Given the description of an element on the screen output the (x, y) to click on. 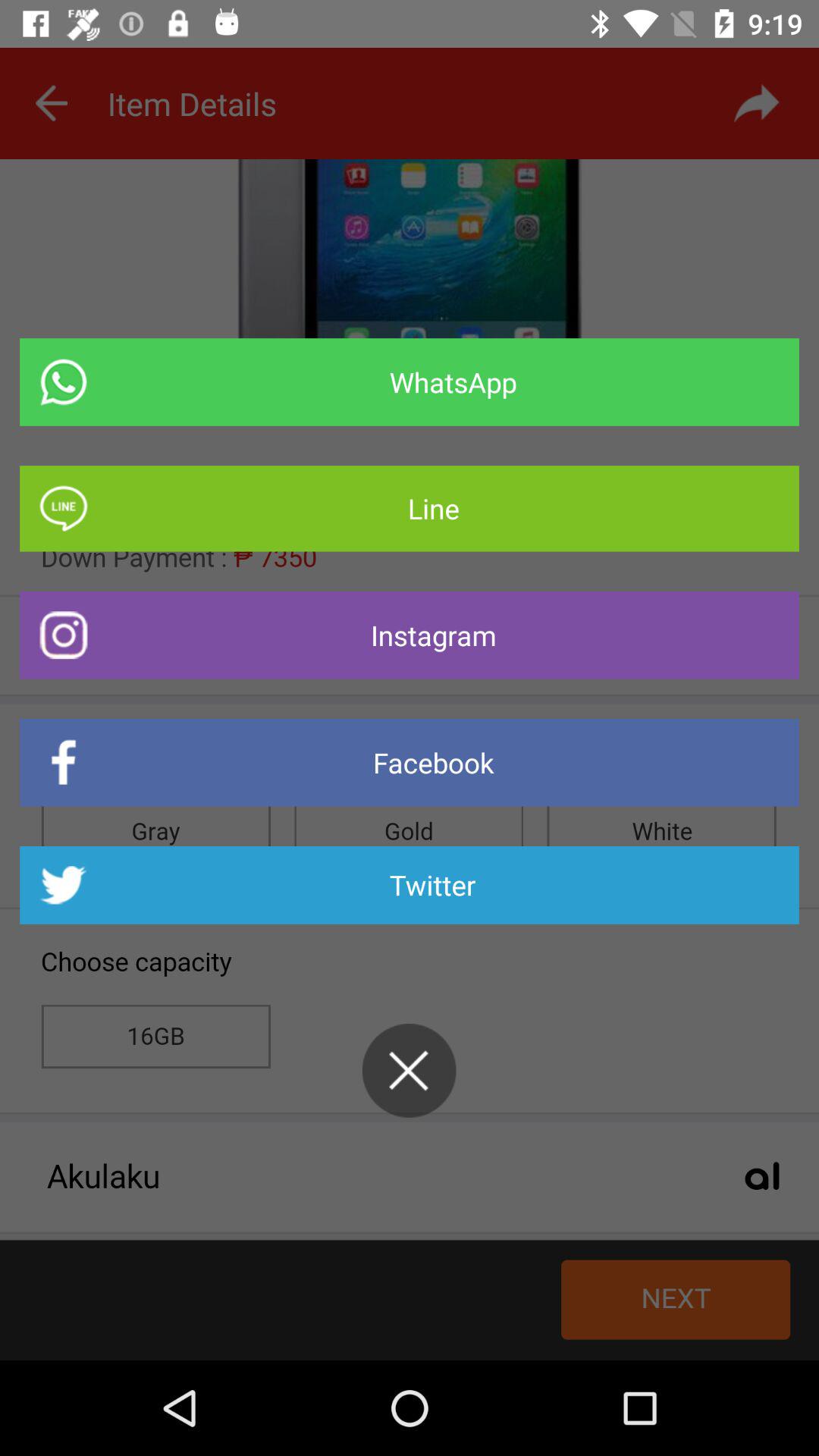
launch the item above line icon (409, 381)
